Given the description of an element on the screen output the (x, y) to click on. 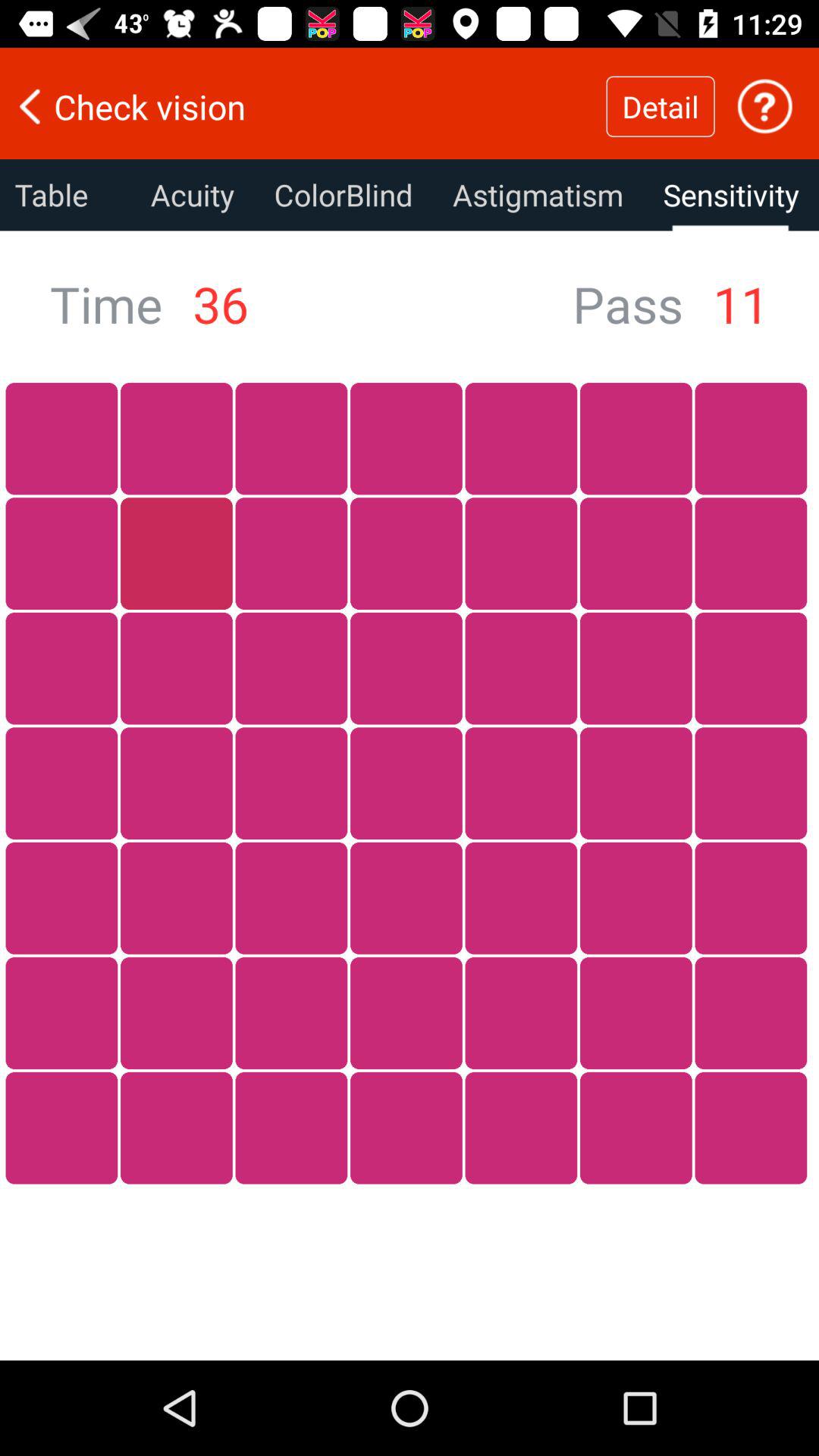
scroll to the sensitivity icon (731, 194)
